Given the description of an element on the screen output the (x, y) to click on. 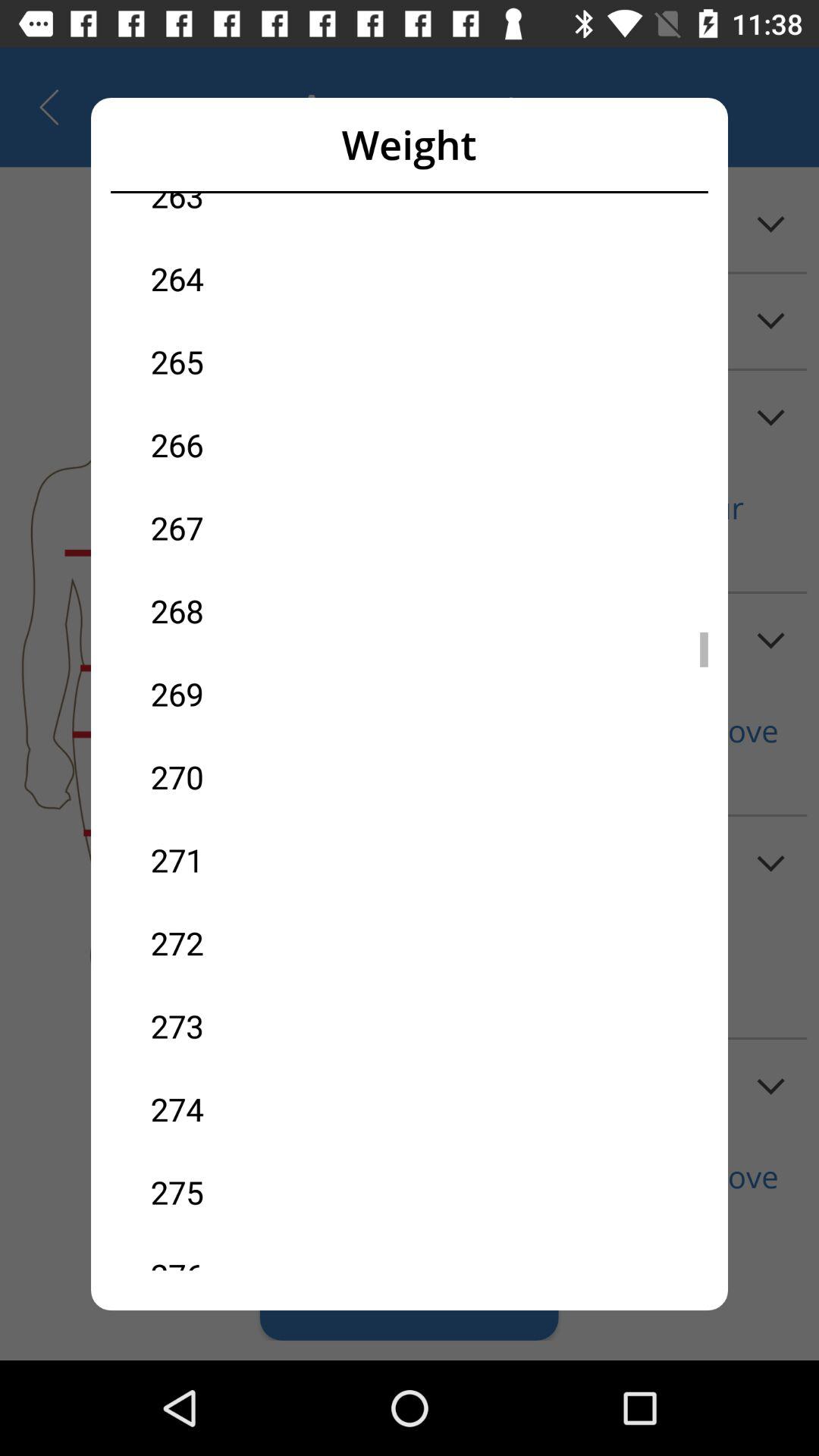
tap 271 (279, 859)
